Given the description of an element on the screen output the (x, y) to click on. 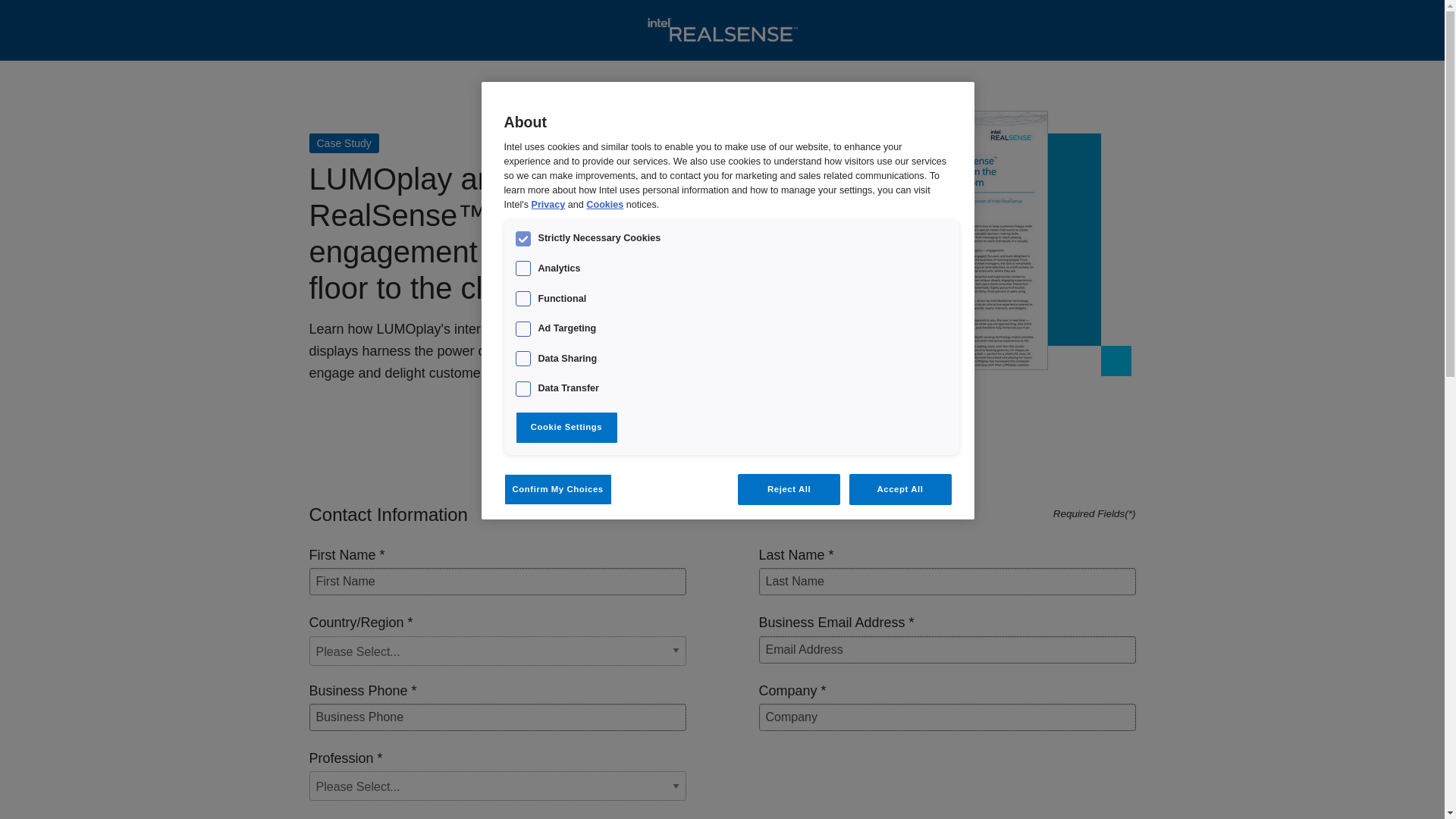
Reject All (789, 490)
Intel RealSense (721, 30)
Accept All (900, 490)
Privacy (548, 204)
Cookies (604, 204)
Cookie Settings (566, 427)
Confirm My Choices (557, 490)
